Given the description of an element on the screen output the (x, y) to click on. 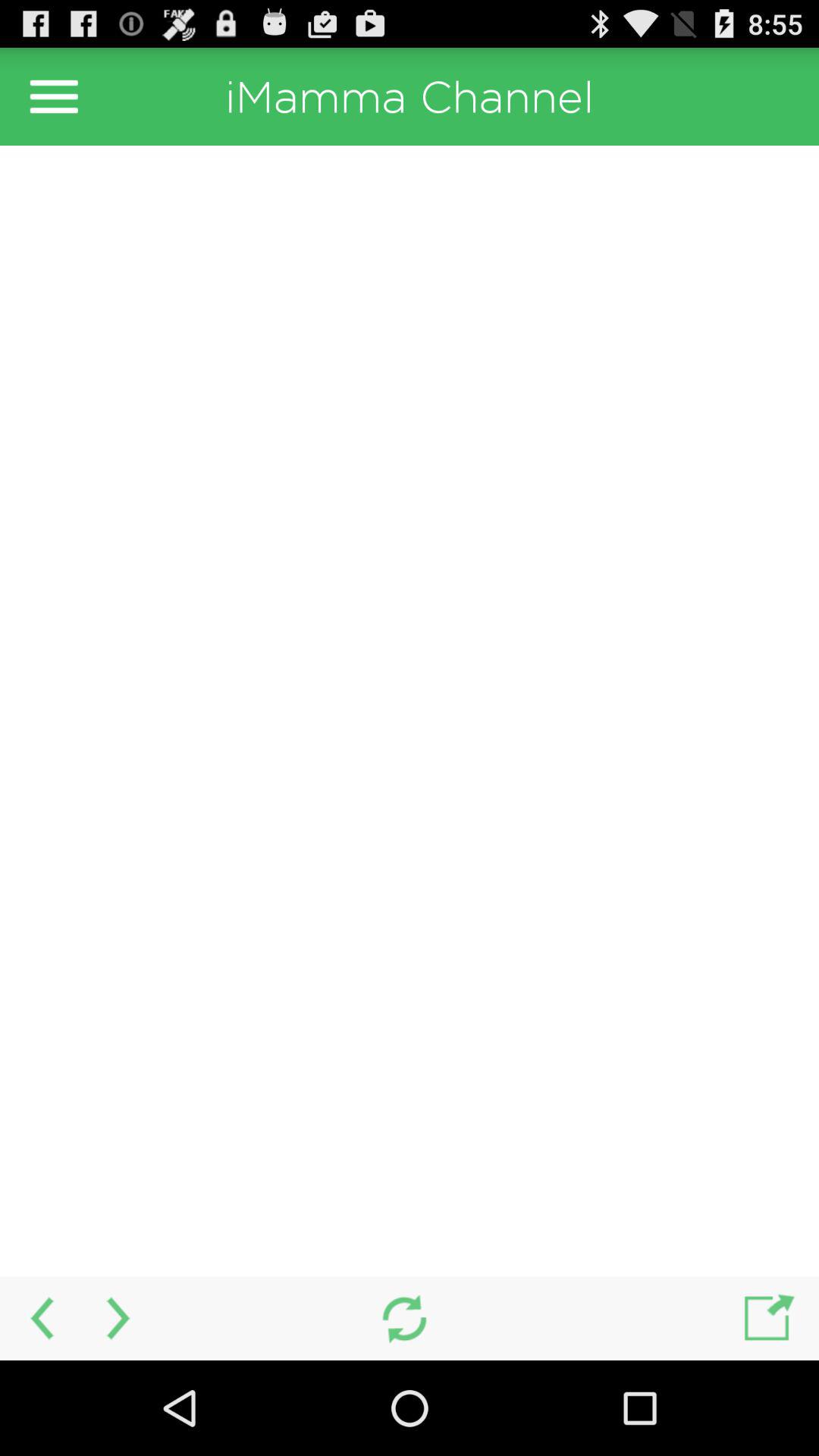
go to next option (120, 1318)
